Given the description of an element on the screen output the (x, y) to click on. 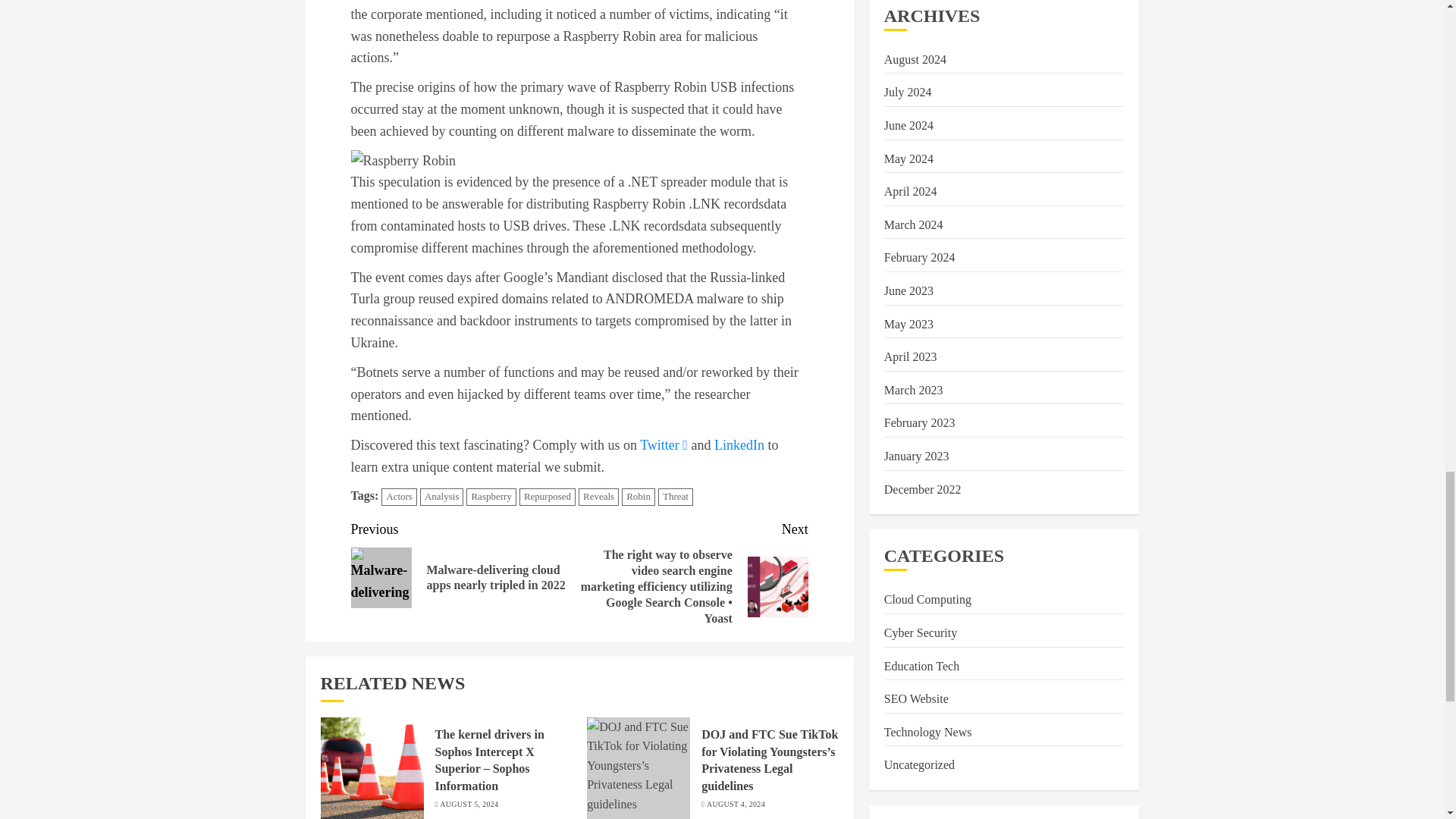
Malware-delivering cloud apps nearly tripled in 2022 (380, 577)
Actors (398, 497)
Threat (675, 497)
Repurposed (547, 497)
Analysis (442, 497)
Raspberry (490, 497)
Reveals (598, 497)
LinkedIn (739, 444)
Robin (638, 497)
Raspberry Robin (402, 160)
